Given the description of an element on the screen output the (x, y) to click on. 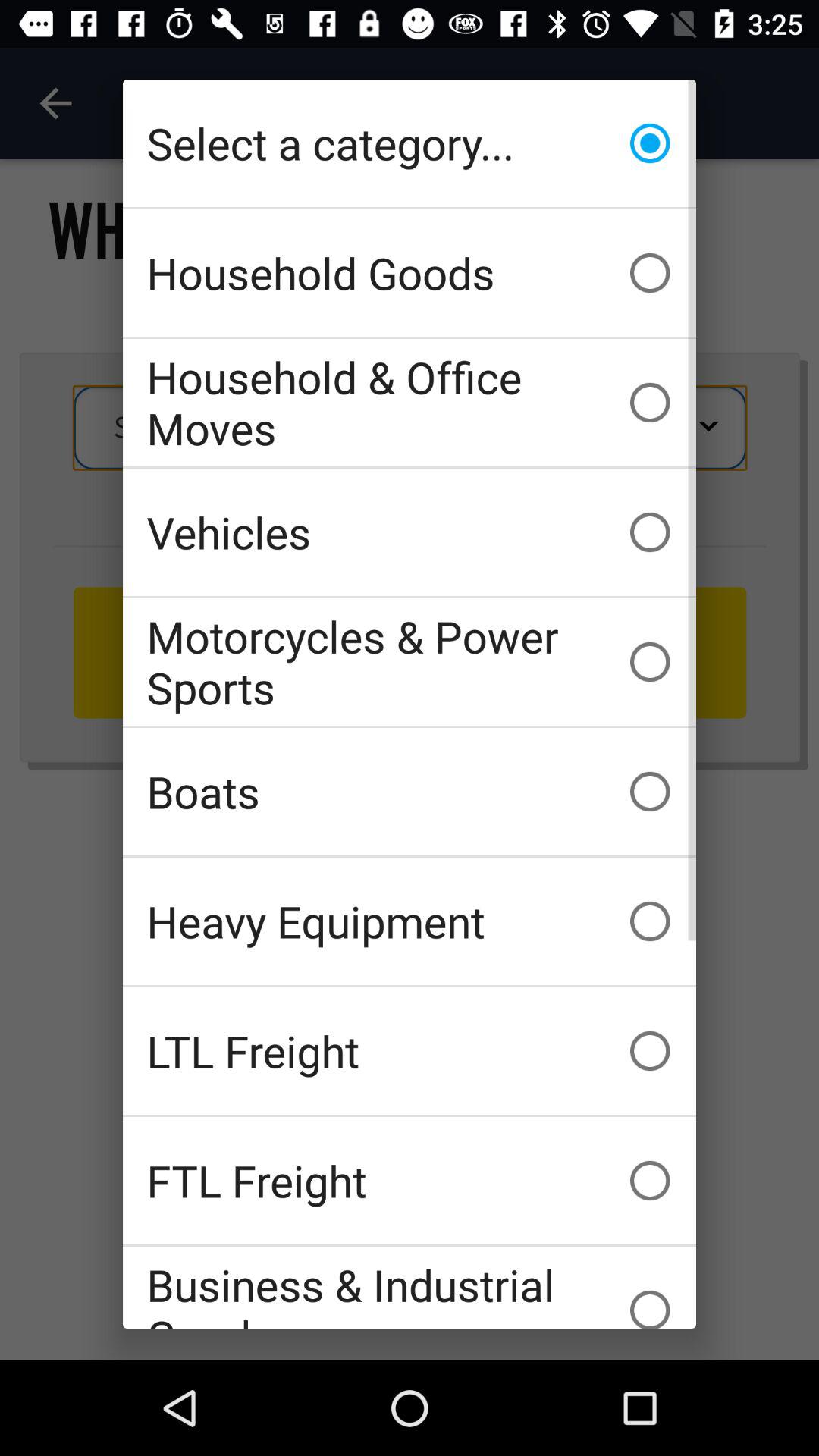
turn on the household goods icon (409, 272)
